Given the description of an element on the screen output the (x, y) to click on. 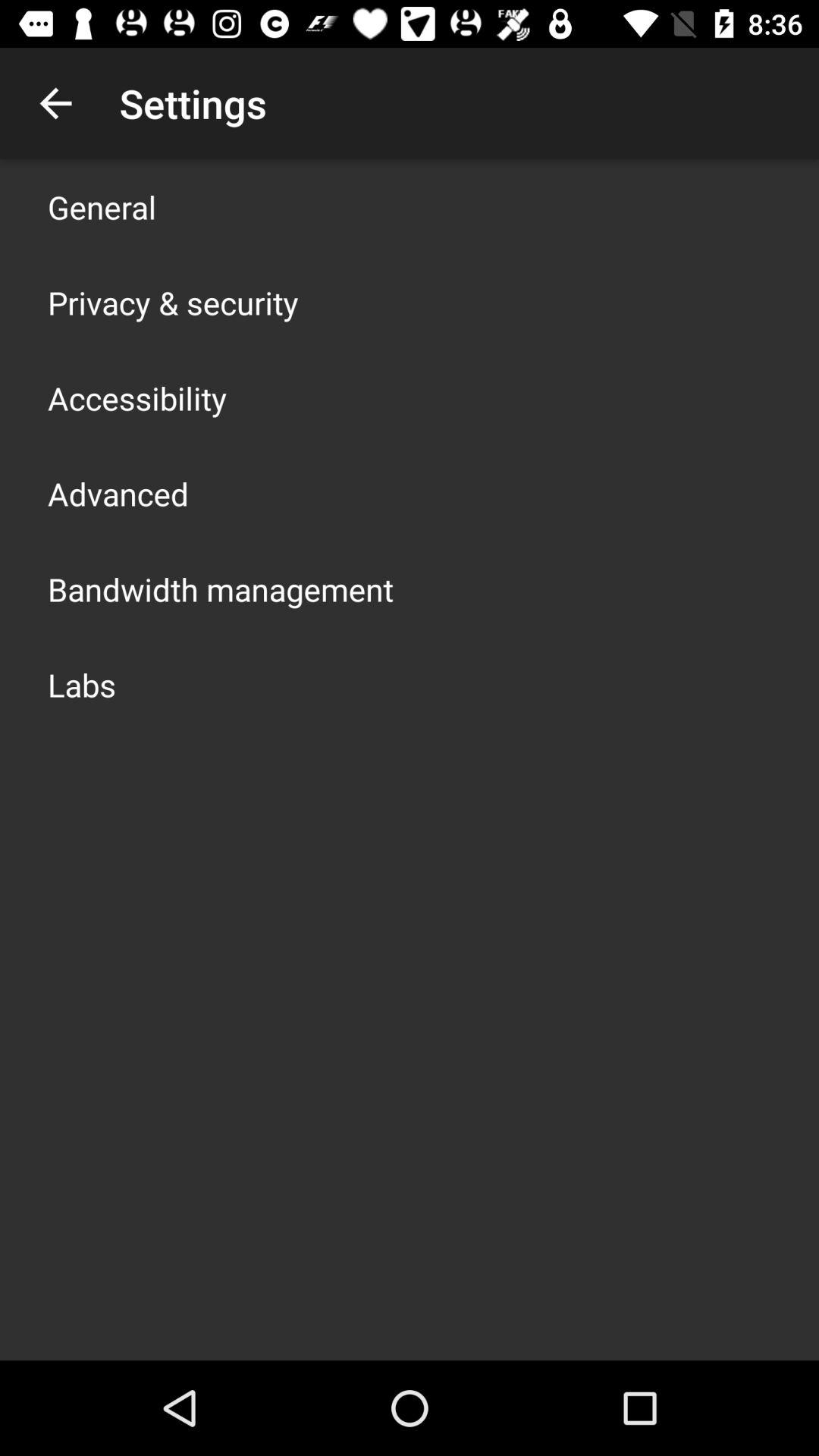
choose icon above labs item (220, 588)
